Given the description of an element on the screen output the (x, y) to click on. 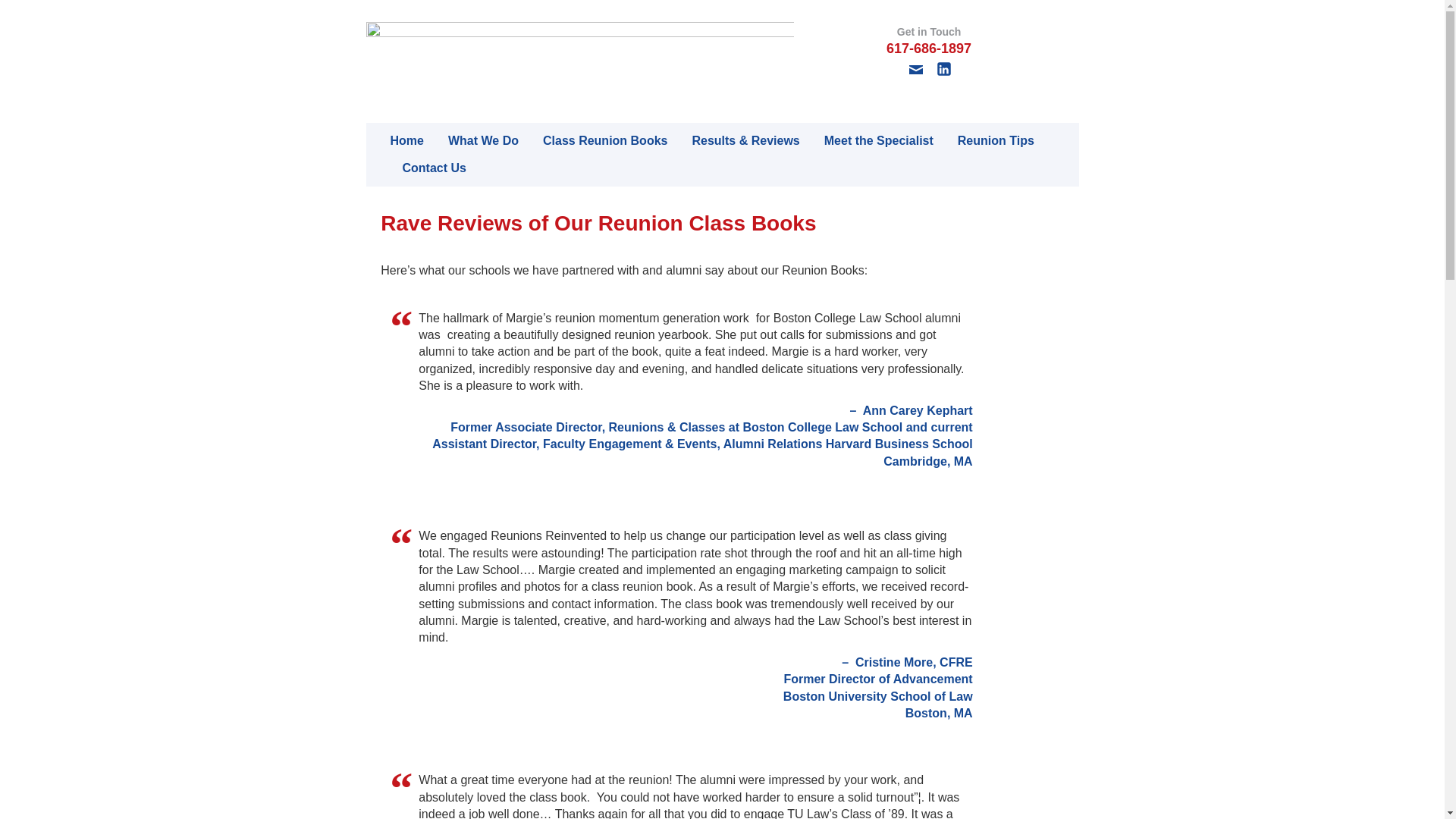
What We Do (470, 140)
Contact Us (421, 167)
Class Reunion Books (592, 140)
Reunion Tips (983, 140)
Home (400, 140)
Meet the Specialist (866, 140)
